Given the description of an element on the screen output the (x, y) to click on. 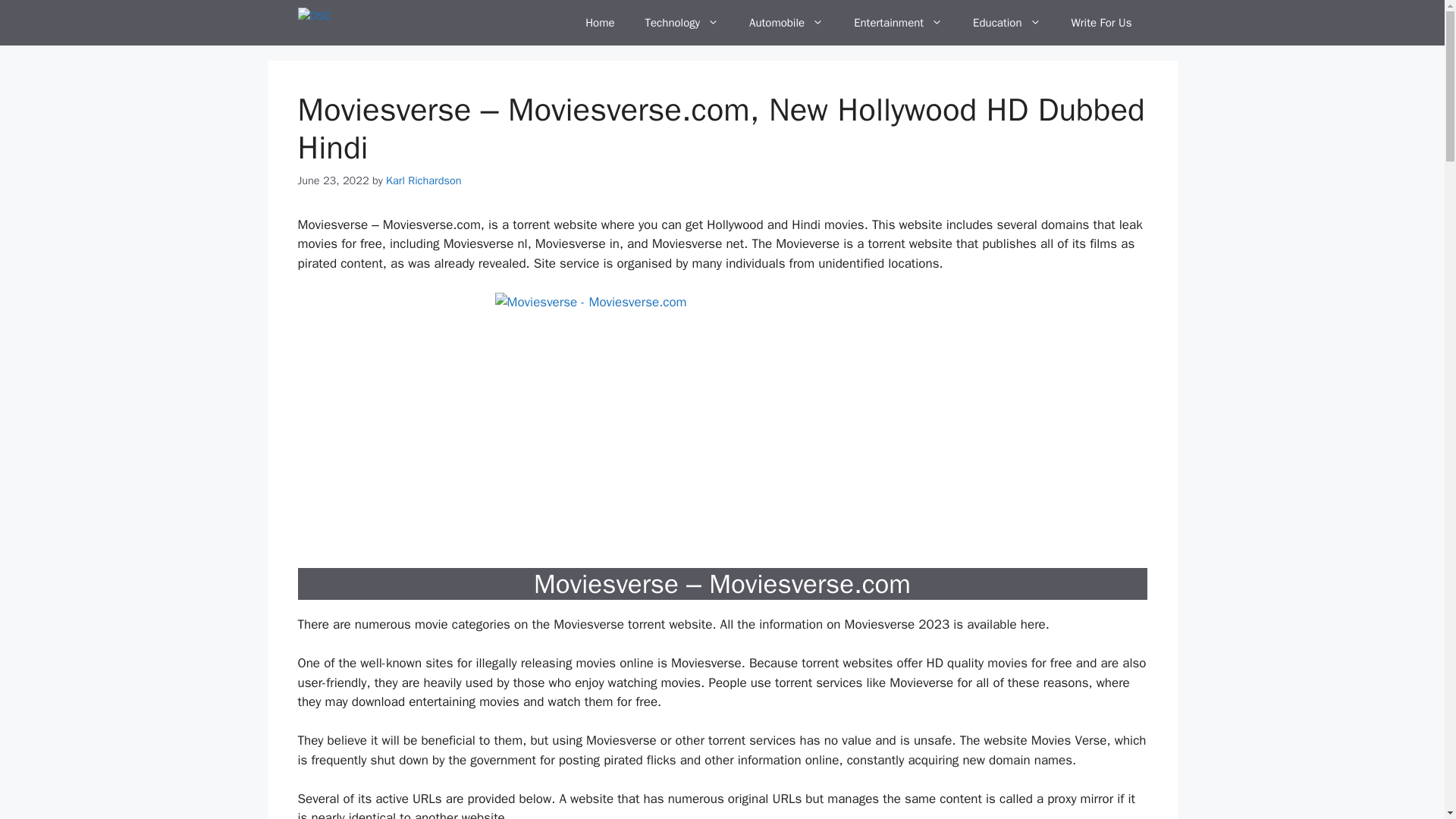
Home (599, 22)
DSC (317, 22)
Karl Richardson (423, 180)
Entertainment (898, 22)
Write For Us (1101, 22)
View all posts by Karl Richardson (423, 180)
Education (1006, 22)
Automobile (785, 22)
Technology (682, 22)
